Given the description of an element on the screen output the (x, y) to click on. 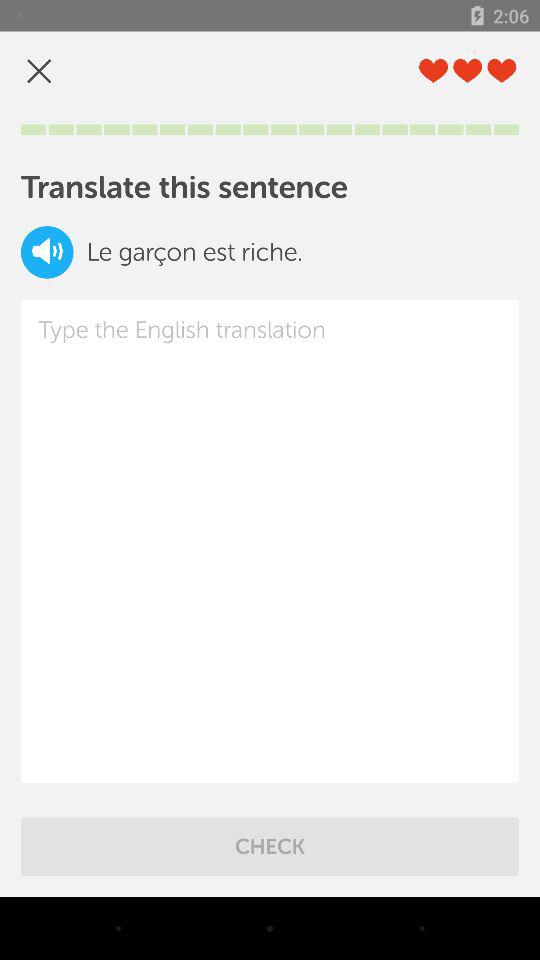
turn off item at the center (270, 540)
